Given the description of an element on the screen output the (x, y) to click on. 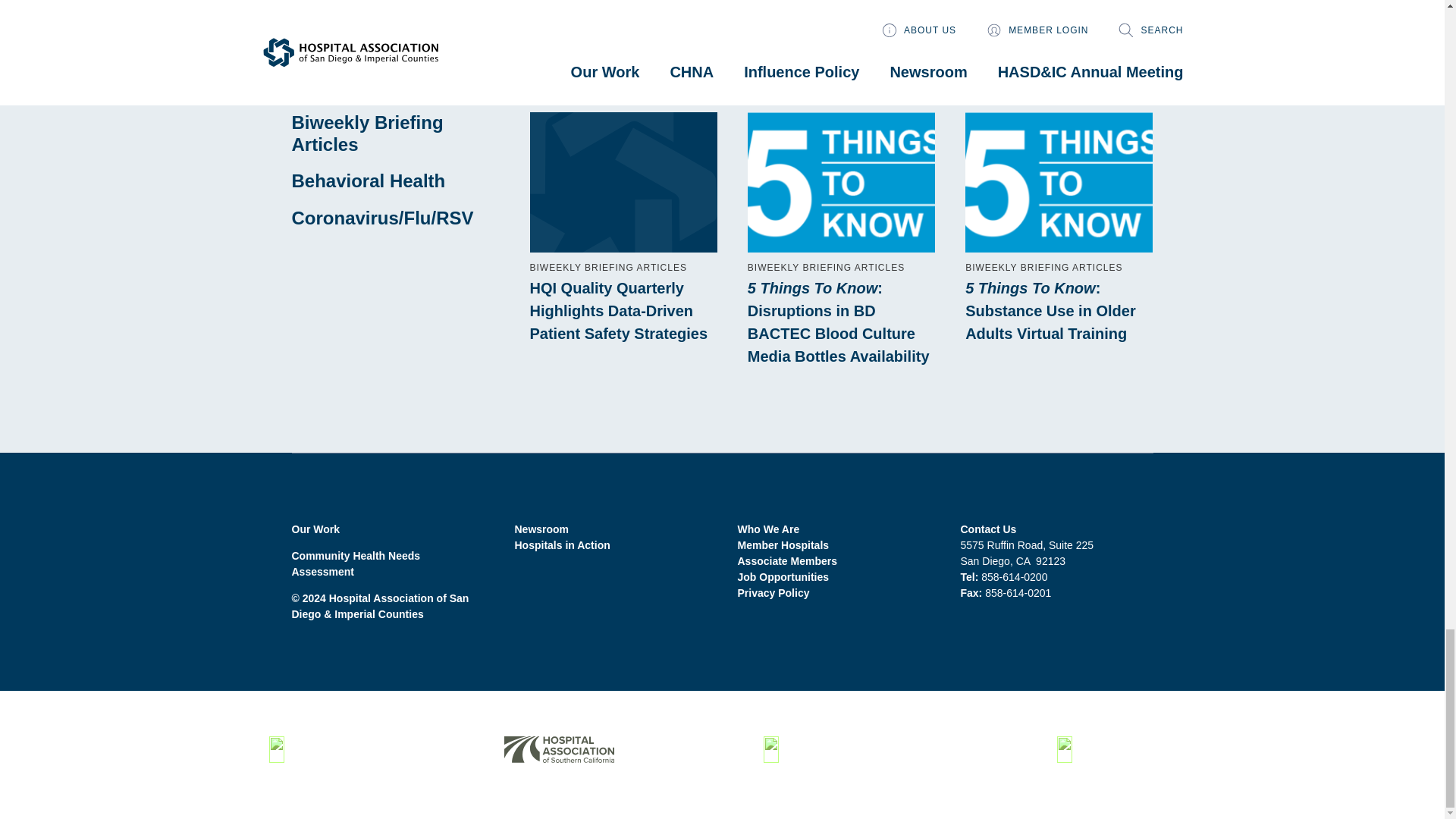
Biweekly Briefing Articles (366, 133)
Behavioral Health (368, 180)
